Given the description of an element on the screen output the (x, y) to click on. 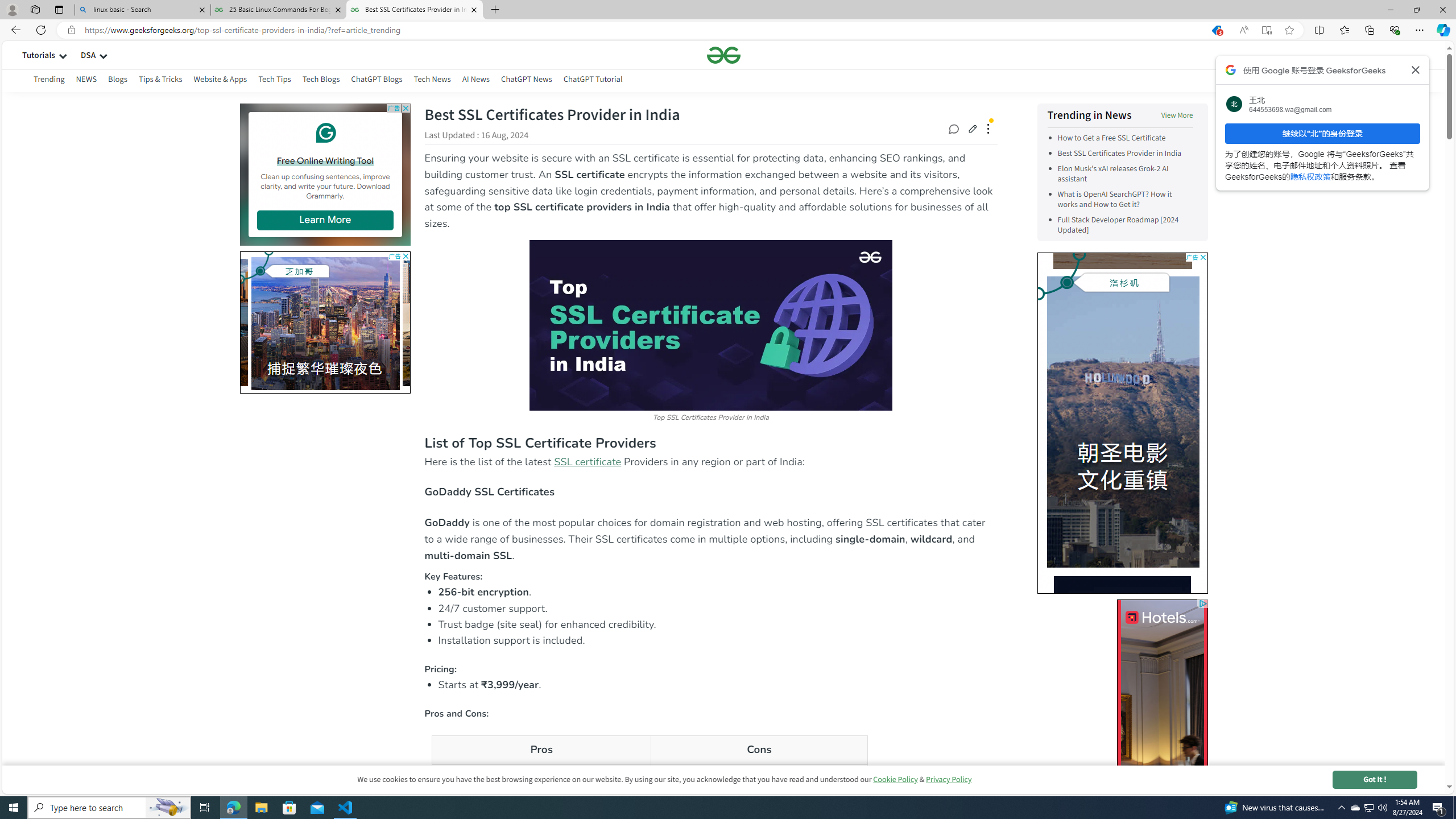
Tips & Tricks (159, 80)
Trust badge (site seal) for enhanced credibility. (717, 624)
Trending (48, 79)
AutomationID: wheel (1037, 255)
Website & Apps (220, 80)
ChatGPT Tutorial (592, 80)
ChatGPT News (526, 80)
Full Stack Developer Roadmap [2024 Updated] (1125, 224)
Elon Musk's xAI releases Grok-2 AI assistant (1125, 173)
AutomationID: brandFlyLogo (1186, 275)
Tech Blogs (321, 80)
NEWS (86, 79)
